Given the description of an element on the screen output the (x, y) to click on. 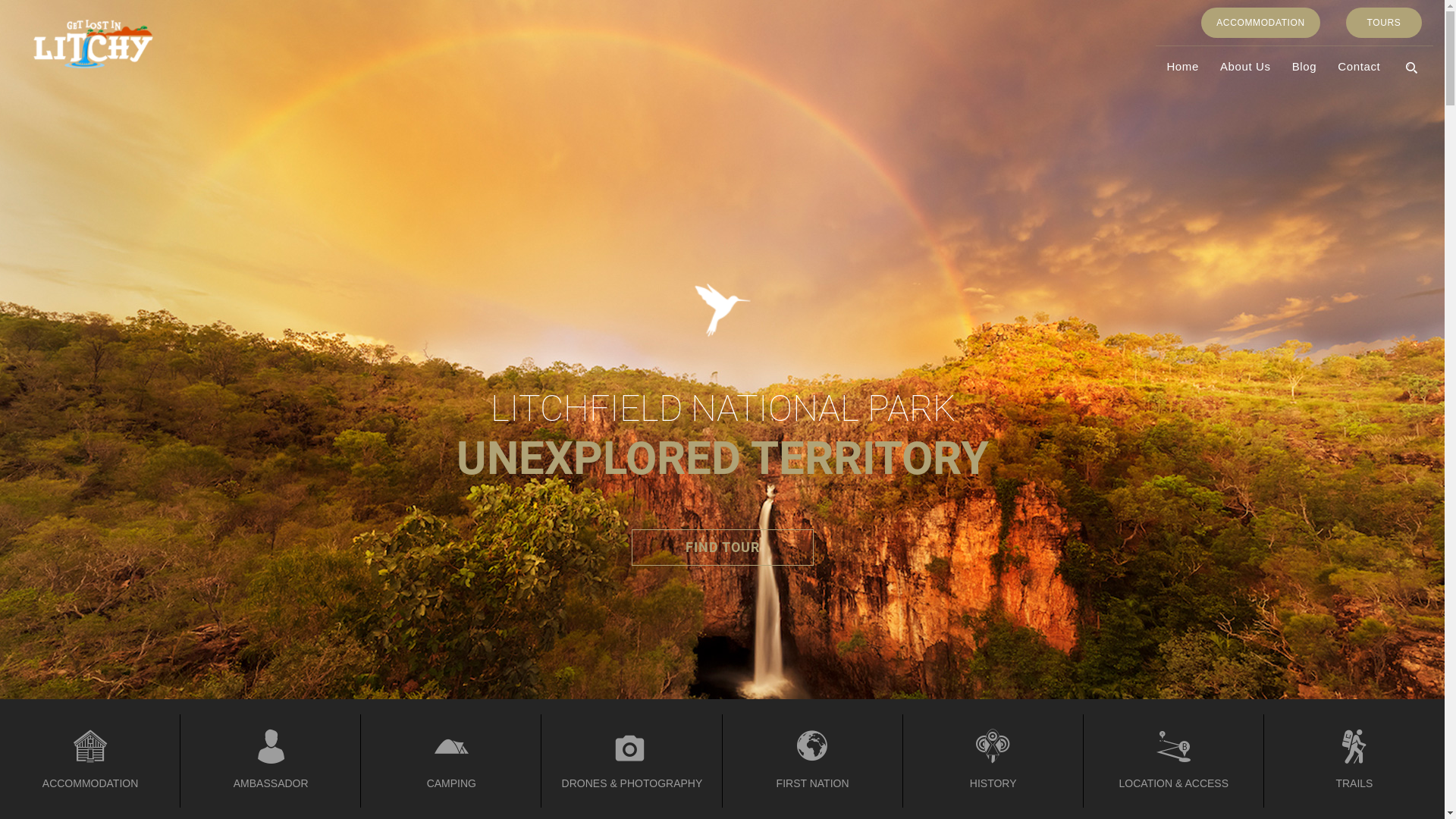
Blog Element type: text (1304, 67)
HISTORY Element type: text (993, 760)
camera_alt
DRONES & PHOTOGRAPHY Element type: text (631, 760)
TRAILS Element type: text (1354, 760)
AMBASSADOR Element type: text (270, 760)
About Us Element type: text (1245, 67)
ACCOMMODATION Element type: text (89, 760)
Contact Element type: text (1358, 67)
FIRST NATION Element type: text (811, 760)
CAMPING Element type: text (450, 760)
ACCOMMODATION Element type: text (1260, 22)
TOURS Element type: text (1383, 22)
FIND TOUR Element type: text (721, 547)
LOCATION & ACCESS Element type: text (1173, 760)
Home Element type: text (1182, 67)
